Given the description of an element on the screen output the (x, y) to click on. 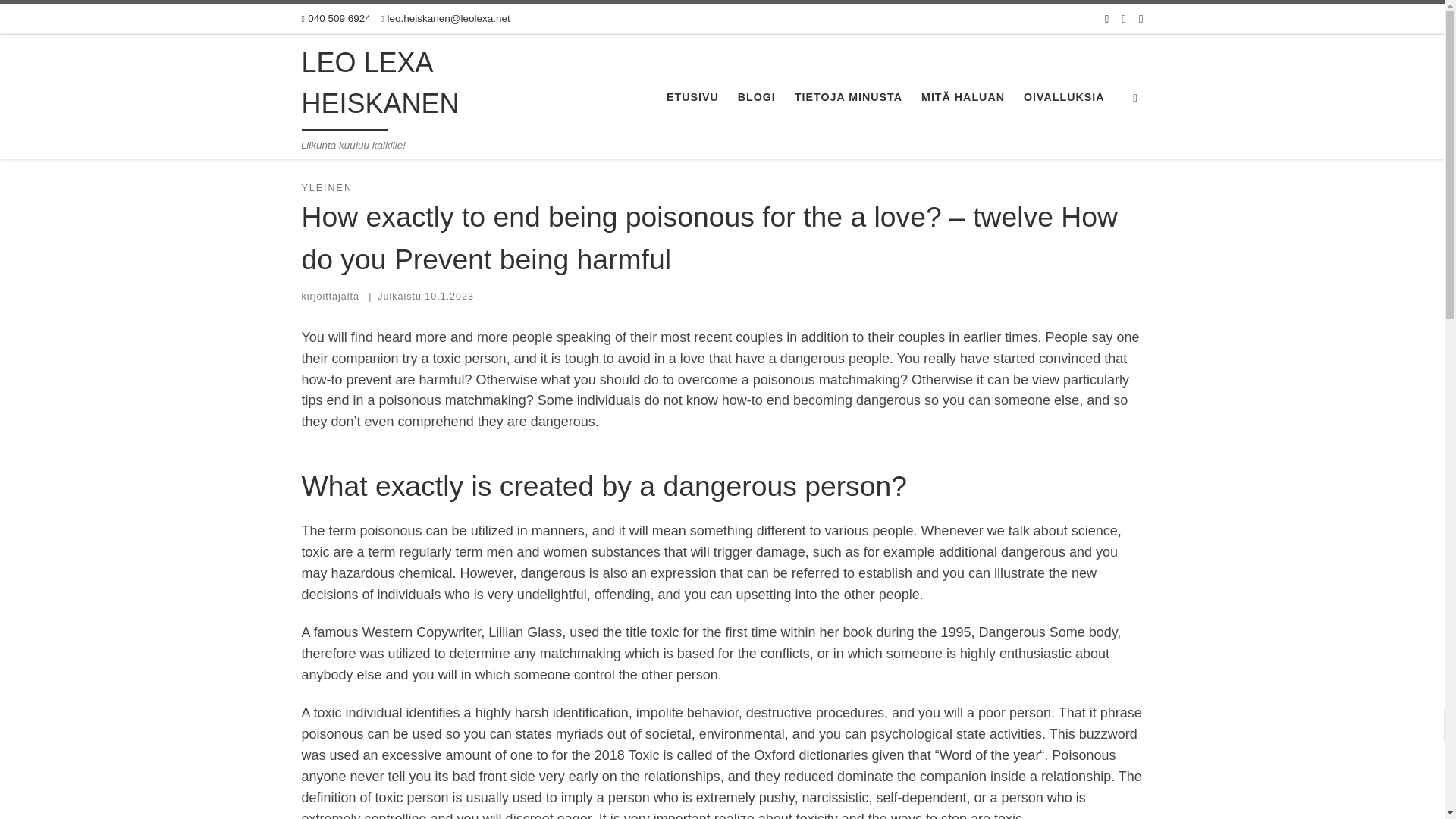
Etusivu (319, 150)
Yleinen (367, 150)
Yleinen (367, 150)
TIETOJA MINUSTA (848, 97)
040 509 6924 (336, 19)
LEO LEXA HEISKANEN (432, 86)
YLEINEN (326, 187)
Skip to content (60, 20)
040 509 6924 (336, 19)
LEO LEXA HEISKANEN (319, 150)
